Given the description of an element on the screen output the (x, y) to click on. 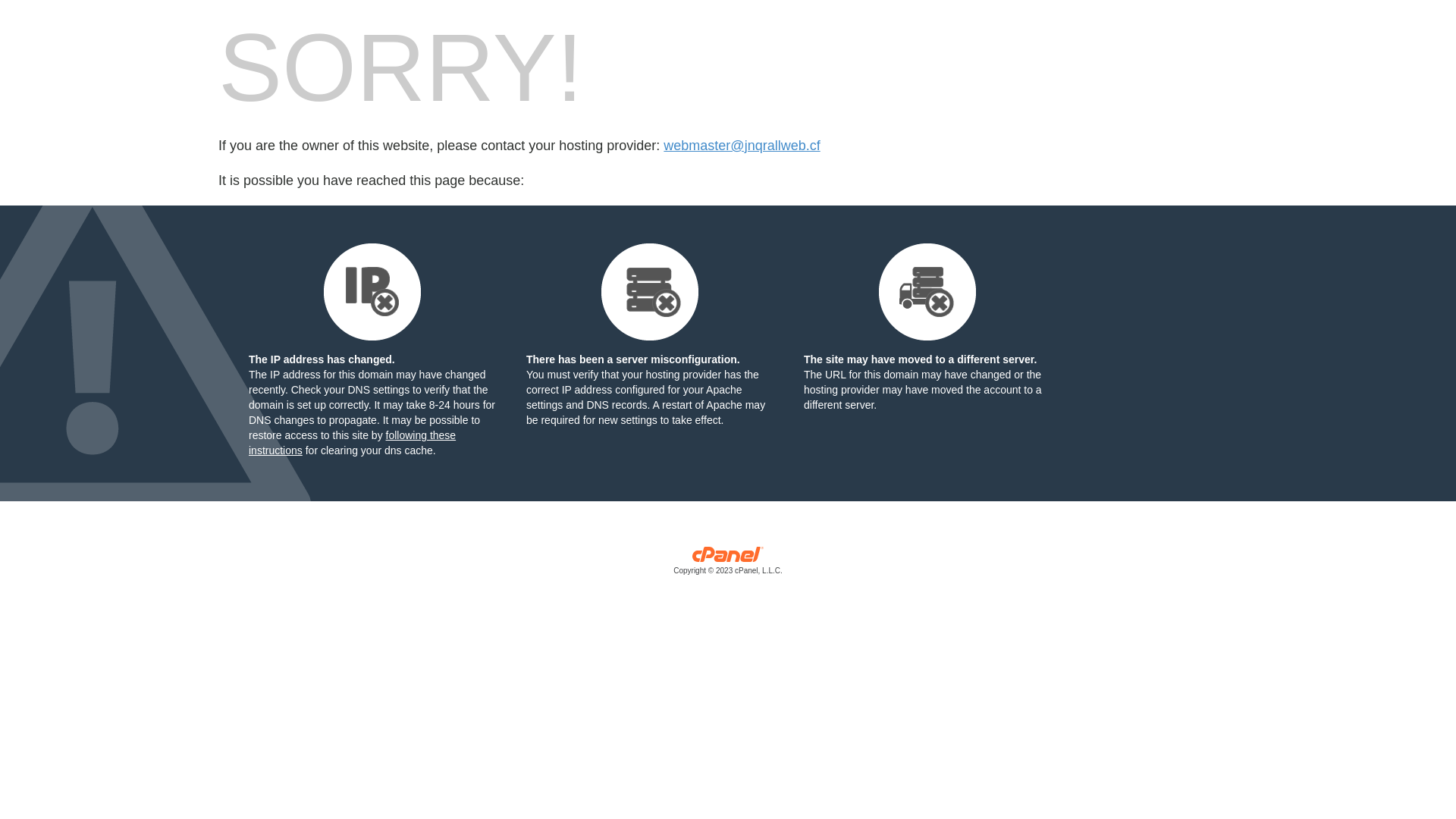
webmaster@jnqrallweb.cf Element type: text (741, 145)
following these instructions Element type: text (351, 442)
